Given the description of an element on the screen output the (x, y) to click on. 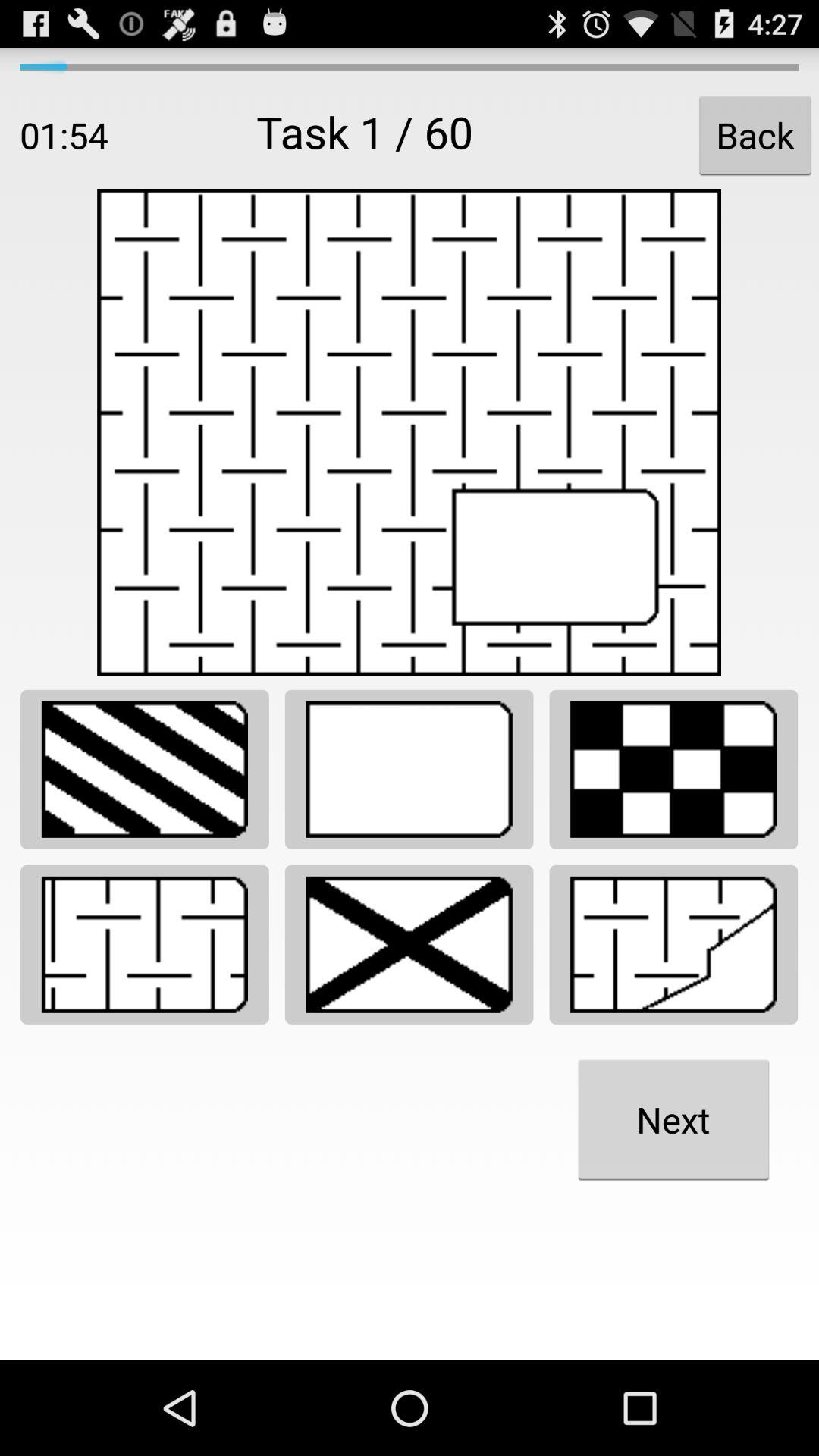
turn on app next to task 1 / 60 item (755, 135)
